Given the description of an element on the screen output the (x, y) to click on. 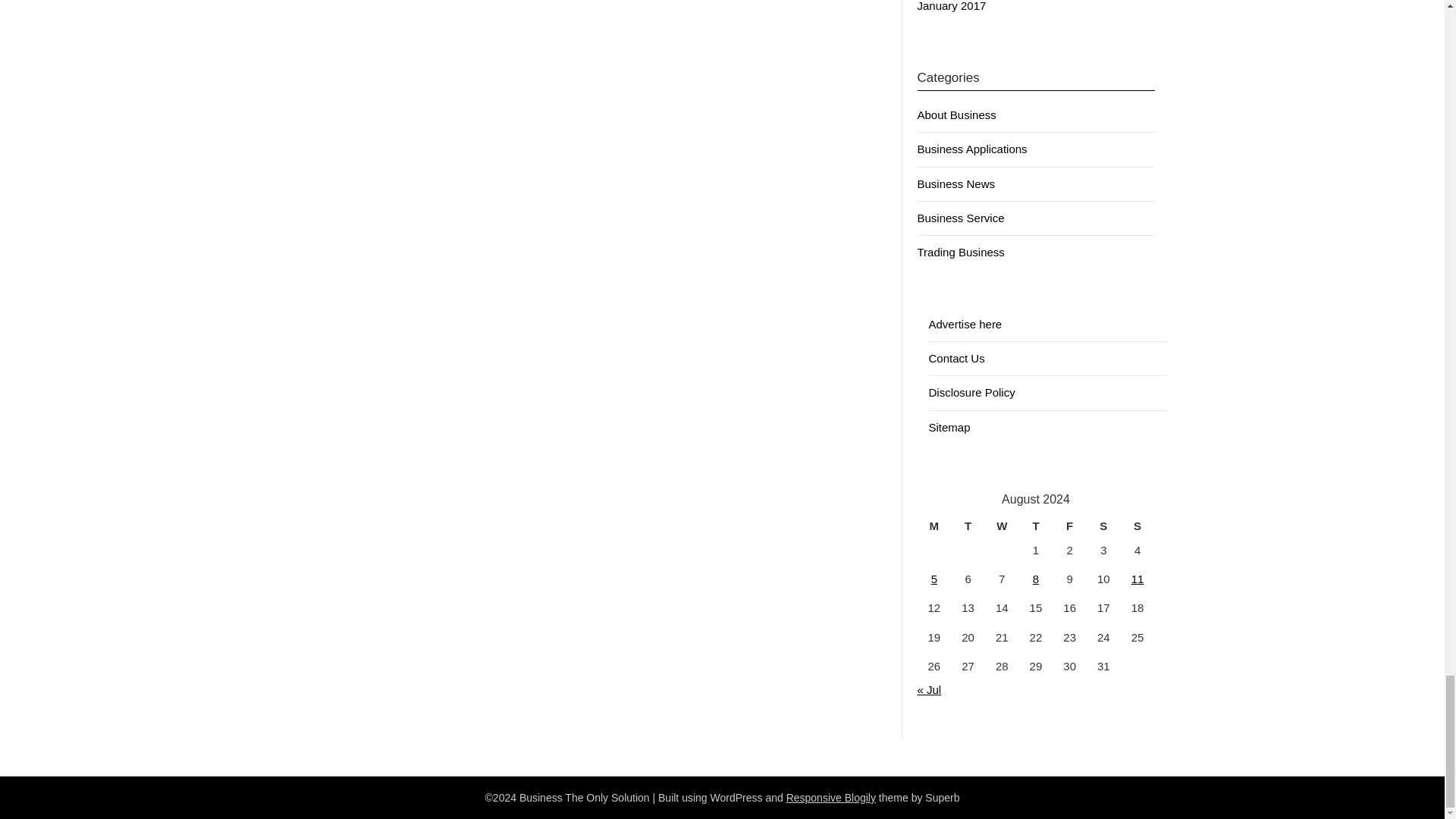
Sunday (1137, 525)
Thursday (1035, 525)
Saturday (1103, 525)
Monday (934, 525)
Friday (1069, 525)
Tuesday (967, 525)
Wednesday (1002, 525)
